Given the description of an element on the screen output the (x, y) to click on. 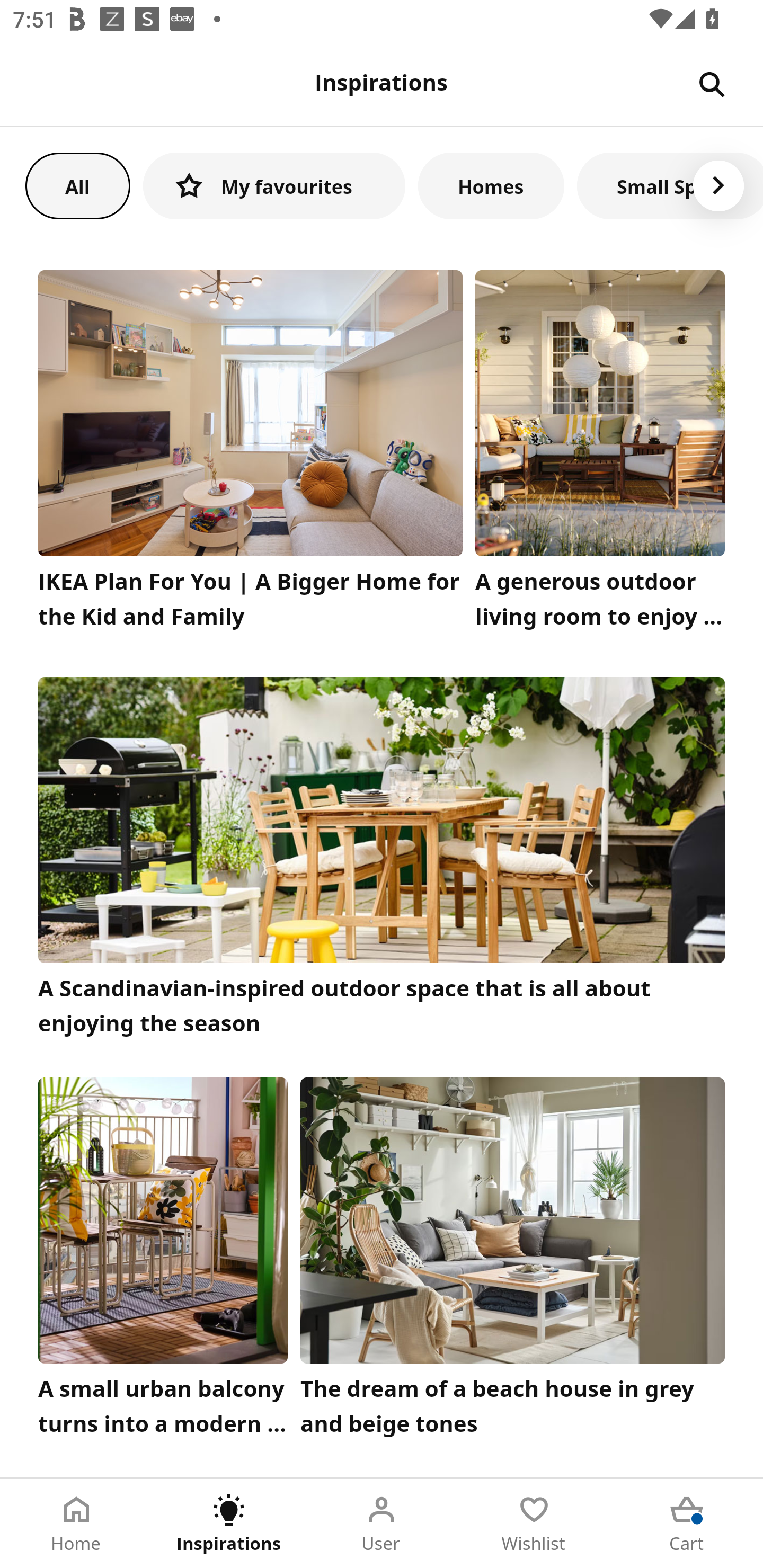
All (77, 185)
My favourites (274, 185)
Homes (491, 185)
The dream of a beach house in grey and beige tones (512, 1261)
Home
Tab 1 of 5 (76, 1522)
Inspirations
Tab 2 of 5 (228, 1522)
User
Tab 3 of 5 (381, 1522)
Wishlist
Tab 4 of 5 (533, 1522)
Cart
Tab 5 of 5 (686, 1522)
